Given the description of an element on the screen output the (x, y) to click on. 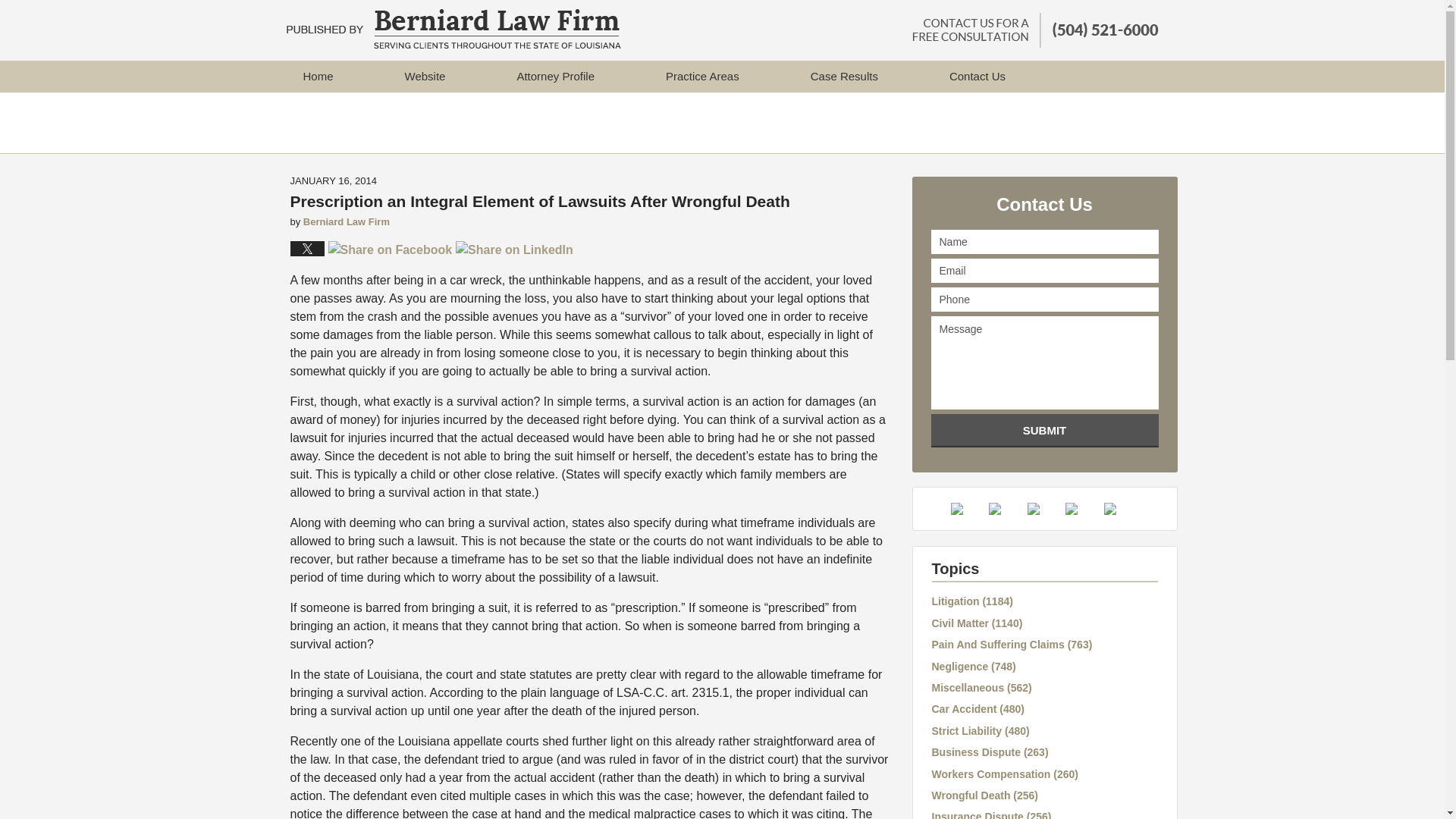
Case Results (844, 76)
Published By Berniard Law Firm (1034, 30)
Facebook (967, 508)
Berniard Law Firm (346, 221)
Louisiana Personal Injury Lawyer Blog (453, 28)
Please enter a valid phone number. (1044, 299)
Practice Areas (702, 76)
Website (425, 76)
Attorney Profile (555, 76)
Home (317, 76)
